Given the description of an element on the screen output the (x, y) to click on. 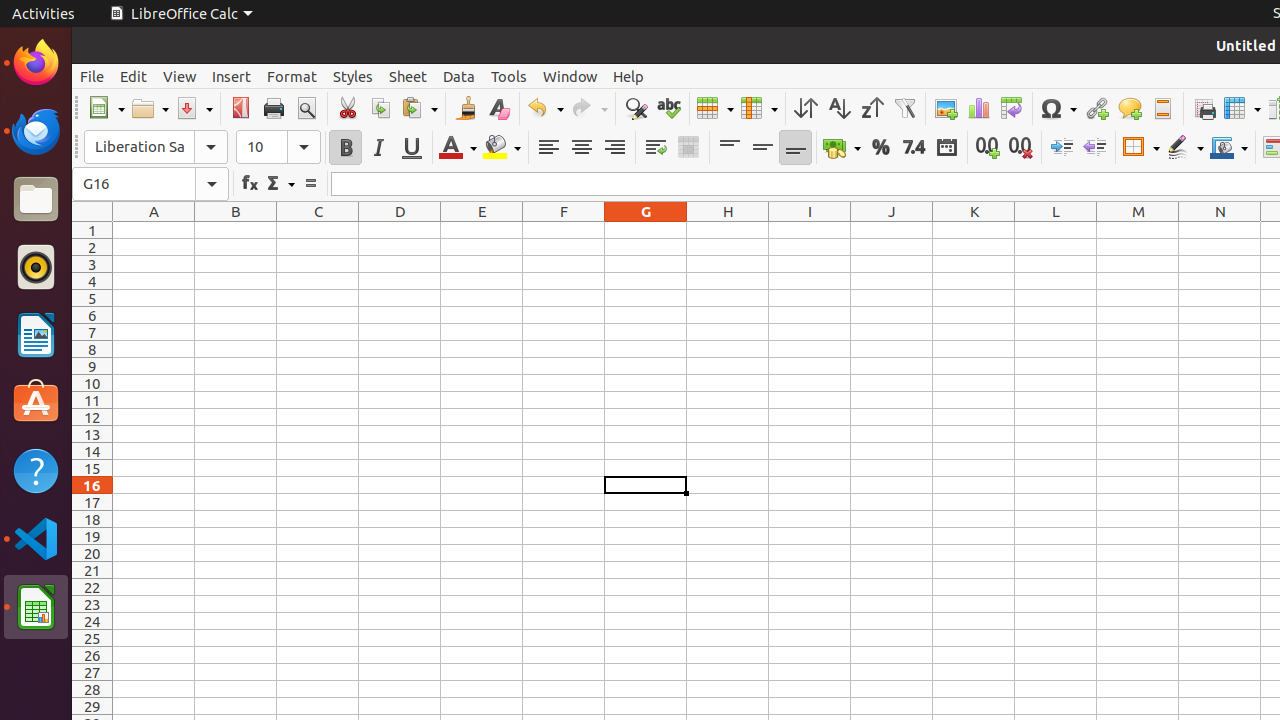
Thunderbird Mail Element type: push-button (36, 131)
Paste Element type: push-button (419, 108)
Align Left Element type: push-button (548, 147)
B1 Element type: table-cell (236, 230)
Underline Element type: push-button (411, 147)
